Given the description of an element on the screen output the (x, y) to click on. 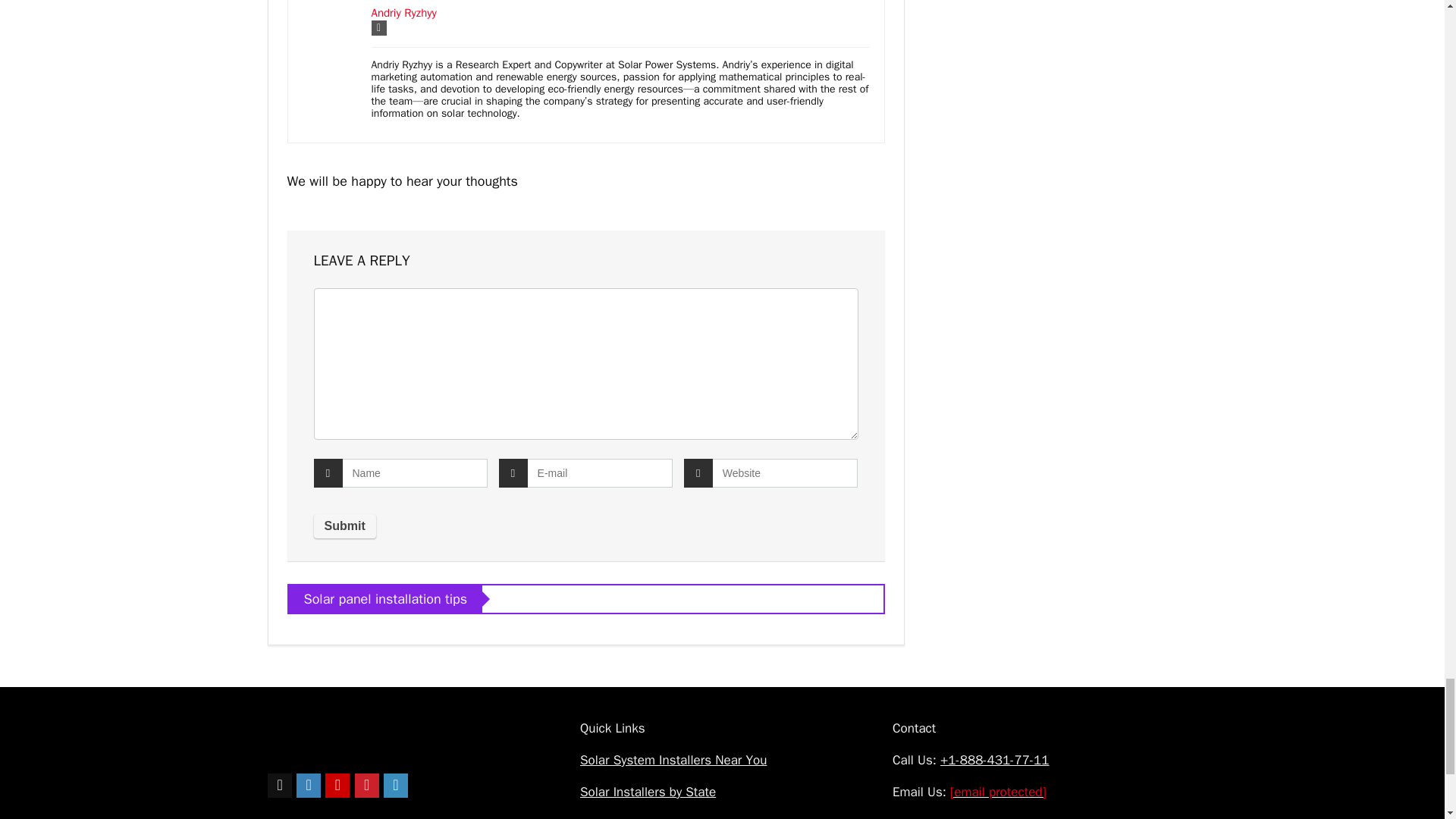
Submit (344, 526)
